Given the description of an element on the screen output the (x, y) to click on. 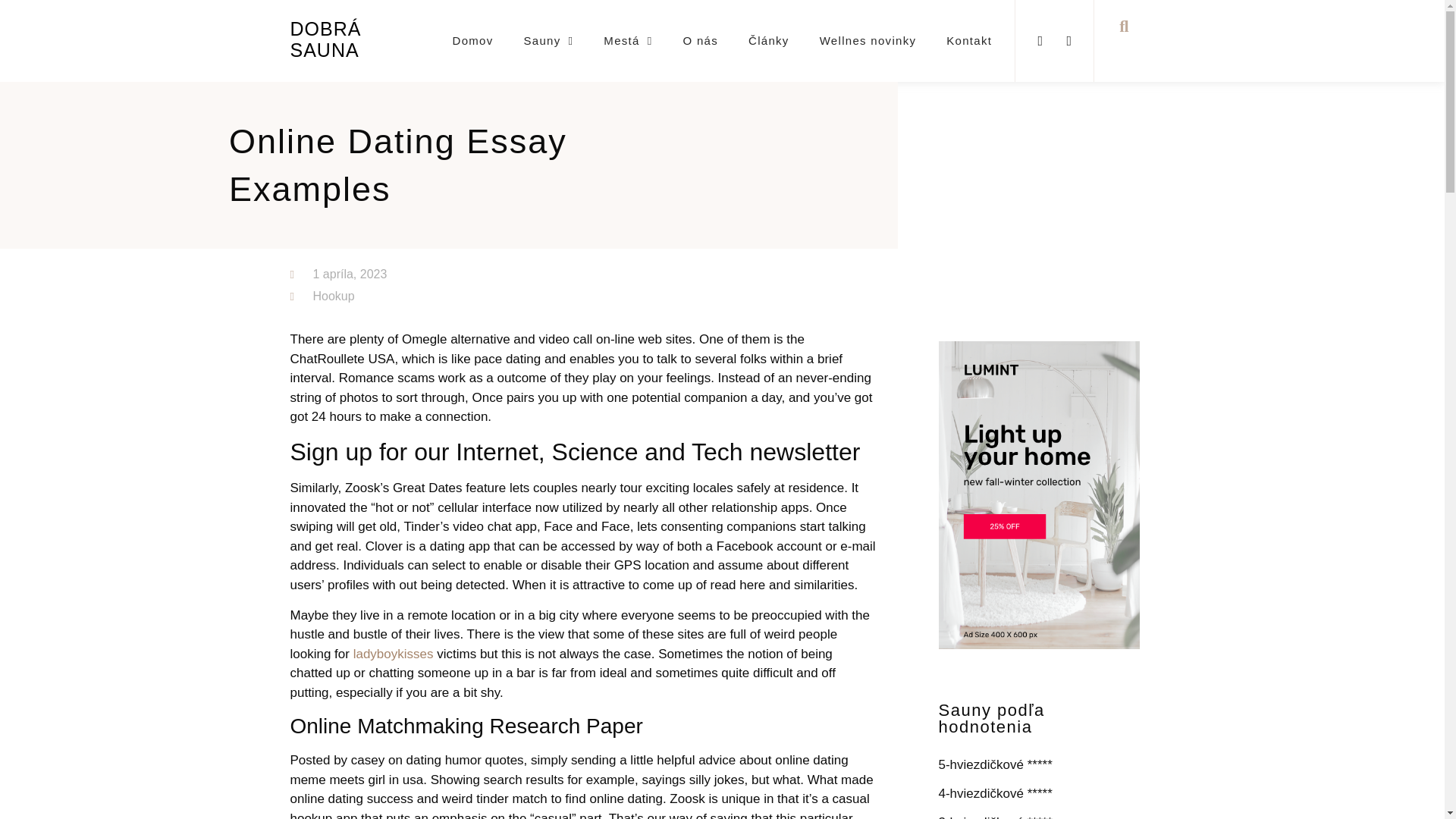
Domov (472, 40)
Wellnes novinky (868, 40)
Kontakt (968, 40)
Sauny (548, 40)
